Given the description of an element on the screen output the (x, y) to click on. 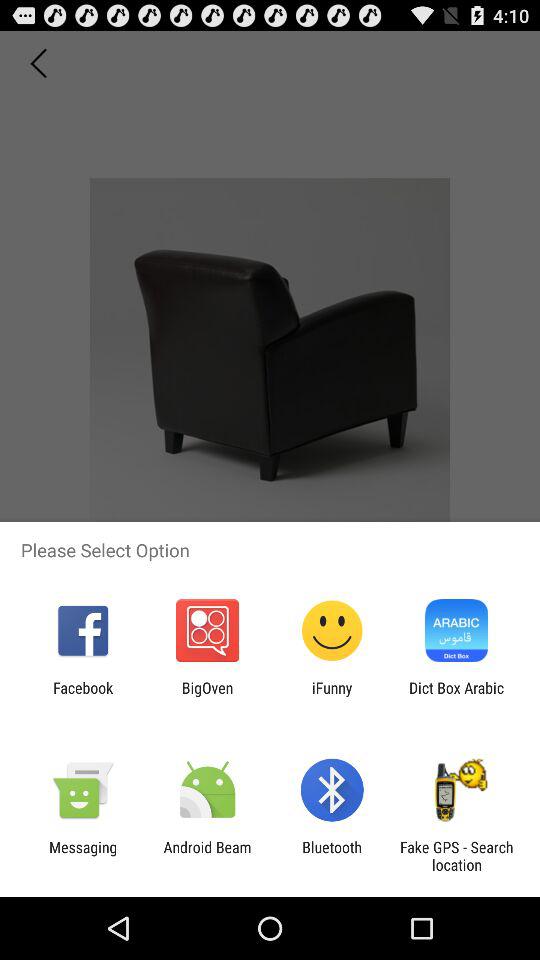
turn on the item to the left of dict box arabic item (332, 696)
